Given the description of an element on the screen output the (x, y) to click on. 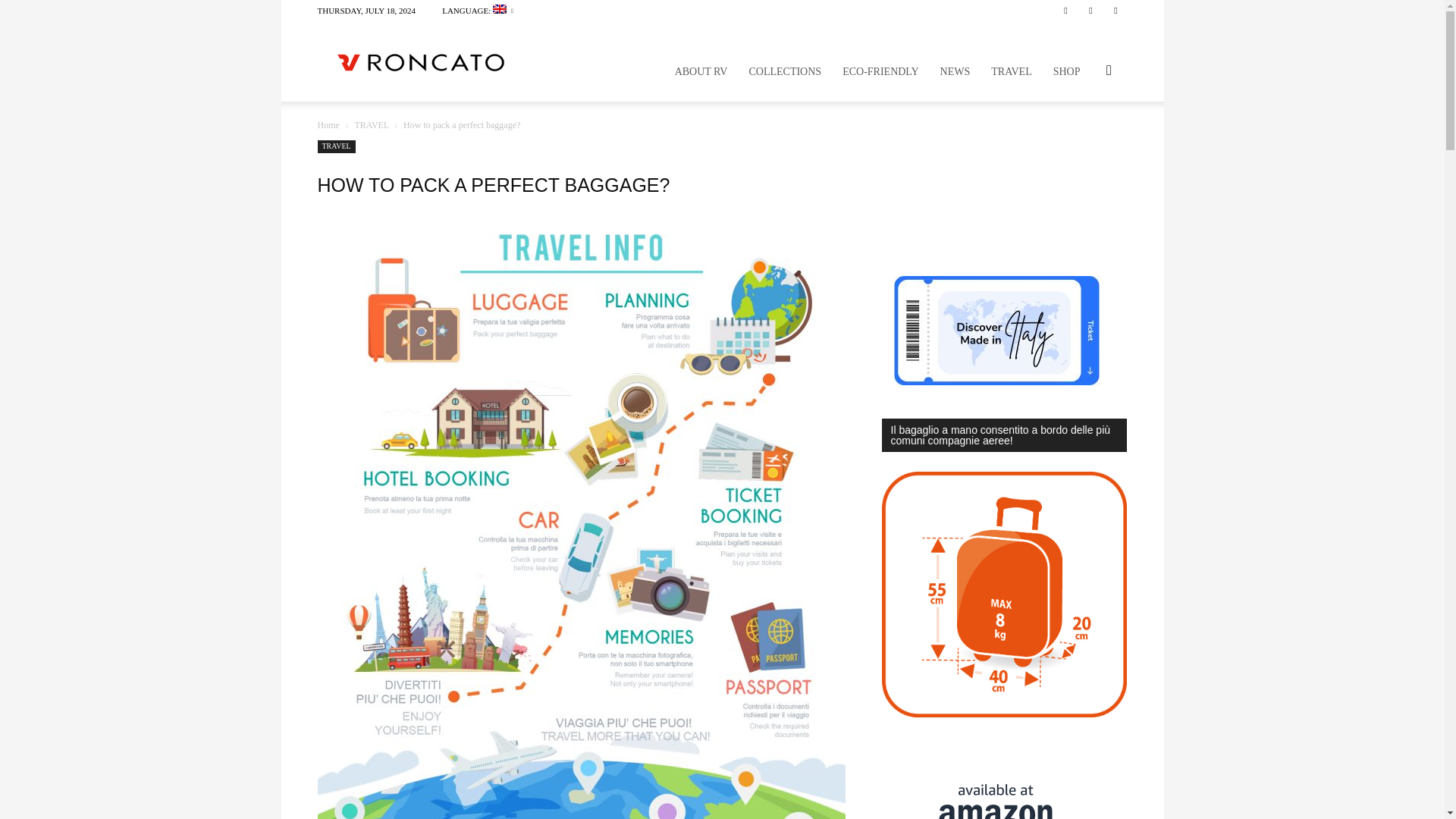
ABOUT RV (700, 71)
ECO-FRIENDLY (879, 71)
TRAVEL (336, 146)
LANGUAGE:  (477, 10)
Facebook (1065, 10)
TRAVEL (1010, 71)
Home (328, 124)
English (477, 10)
Blog Roncato (419, 61)
Instagram (1090, 10)
View all posts in TRAVEL (371, 124)
COLLECTIONS (784, 71)
Youtube (1114, 10)
TRAVEL (371, 124)
